Given the description of an element on the screen output the (x, y) to click on. 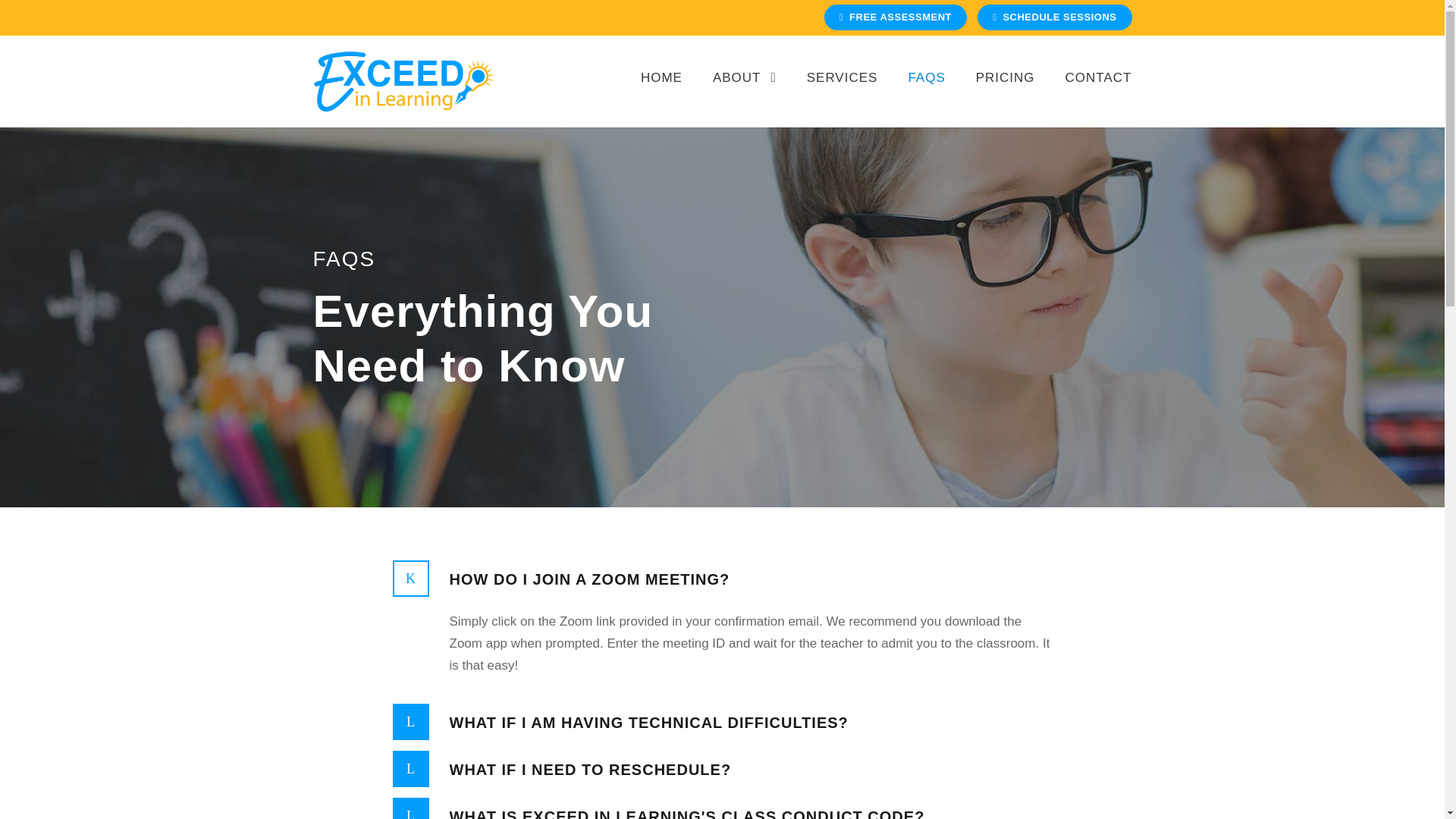
SCHEDULE SESSIONS (1053, 17)
FREE ASSESSMENT (895, 17)
Exceed In Learning (404, 81)
SERVICES (841, 94)
PRICING (1005, 94)
ABOUT (744, 94)
CONTACT (1098, 94)
